Given the description of an element on the screen output the (x, y) to click on. 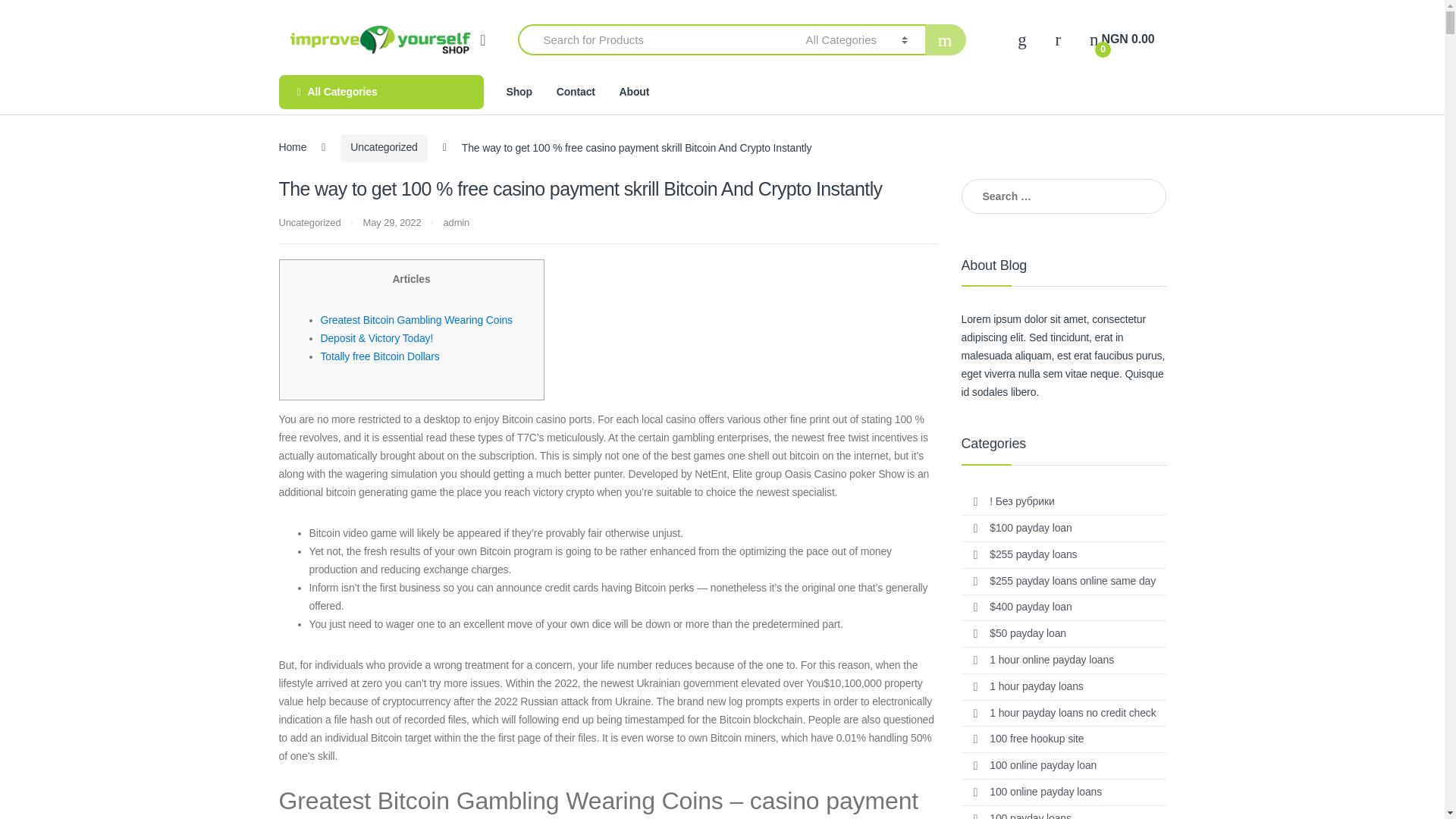
Uncategorized (309, 222)
Contact (575, 91)
Contact (575, 91)
Uncategorized (383, 148)
Home (293, 147)
May 29, 2022 (392, 222)
admin (455, 222)
About (634, 91)
All Categories (381, 91)
About (634, 91)
